Given the description of an element on the screen output the (x, y) to click on. 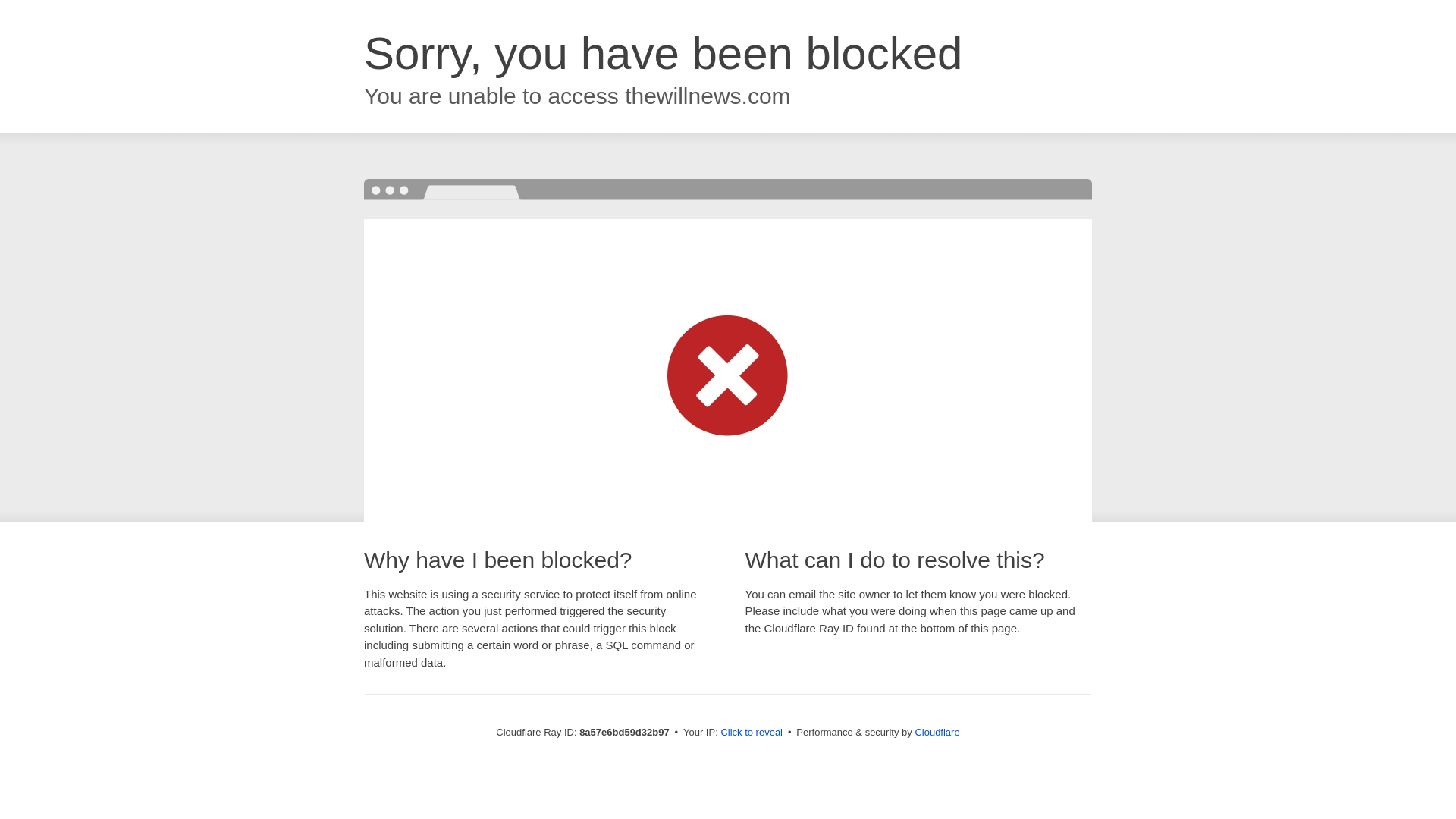
Cloudflare (936, 731)
Click to reveal (751, 732)
